Given the description of an element on the screen output the (x, y) to click on. 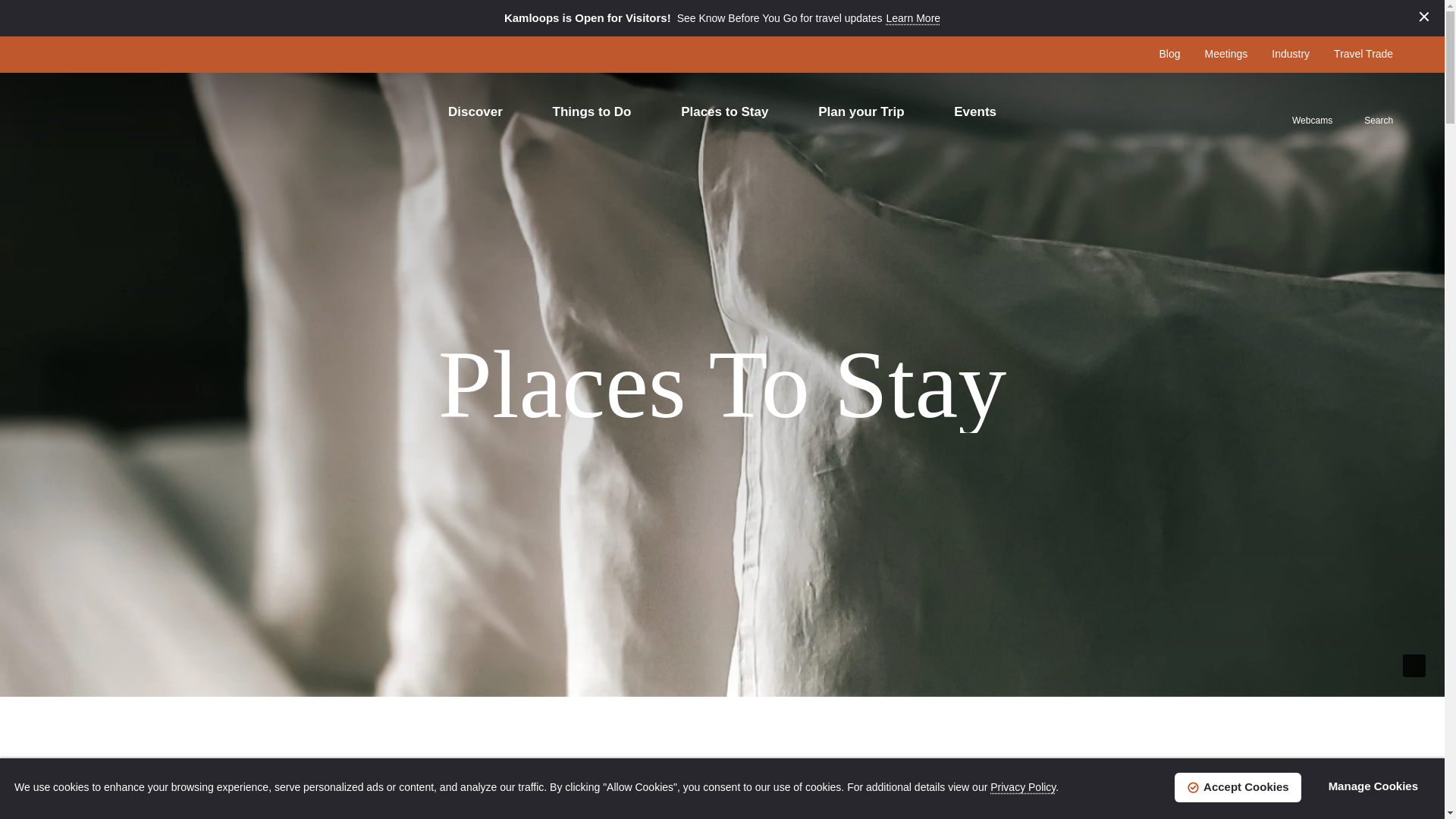
Places to Stay (731, 111)
Travel Trade (1363, 53)
Blog (1168, 53)
Industry (1289, 53)
Discover (482, 111)
Meetings (1225, 53)
Learn More (913, 18)
Things to Do (599, 111)
